Given the description of an element on the screen output the (x, y) to click on. 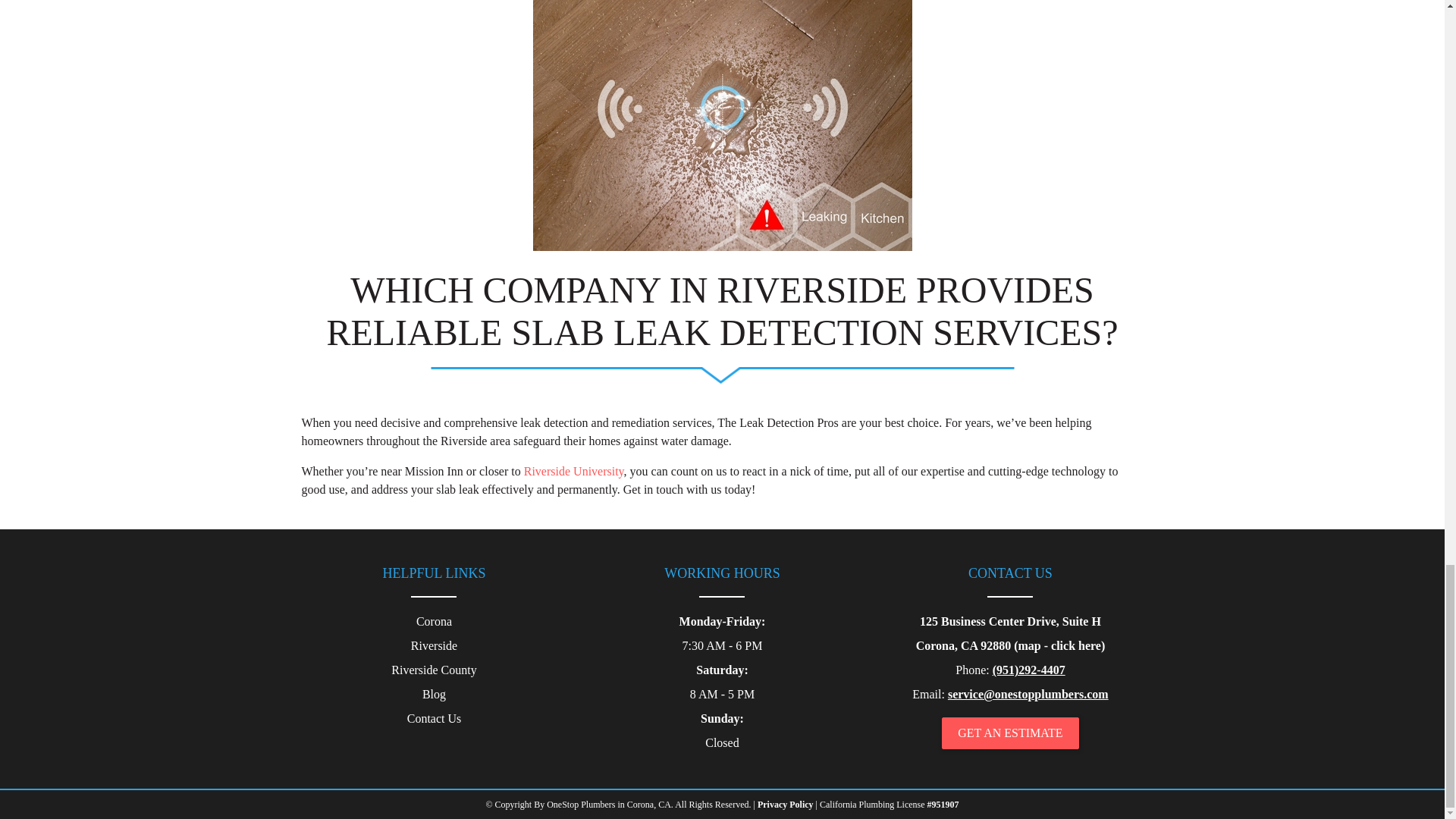
GET AN ESTIMATE (1010, 733)
Riverside University (574, 471)
Blog (433, 694)
Riverside County (433, 669)
Corona (433, 621)
Privacy Policy (785, 804)
Riverside (433, 646)
Click Here for Directions (1075, 646)
click here (1075, 646)
Contact Us (434, 719)
